Given the description of an element on the screen output the (x, y) to click on. 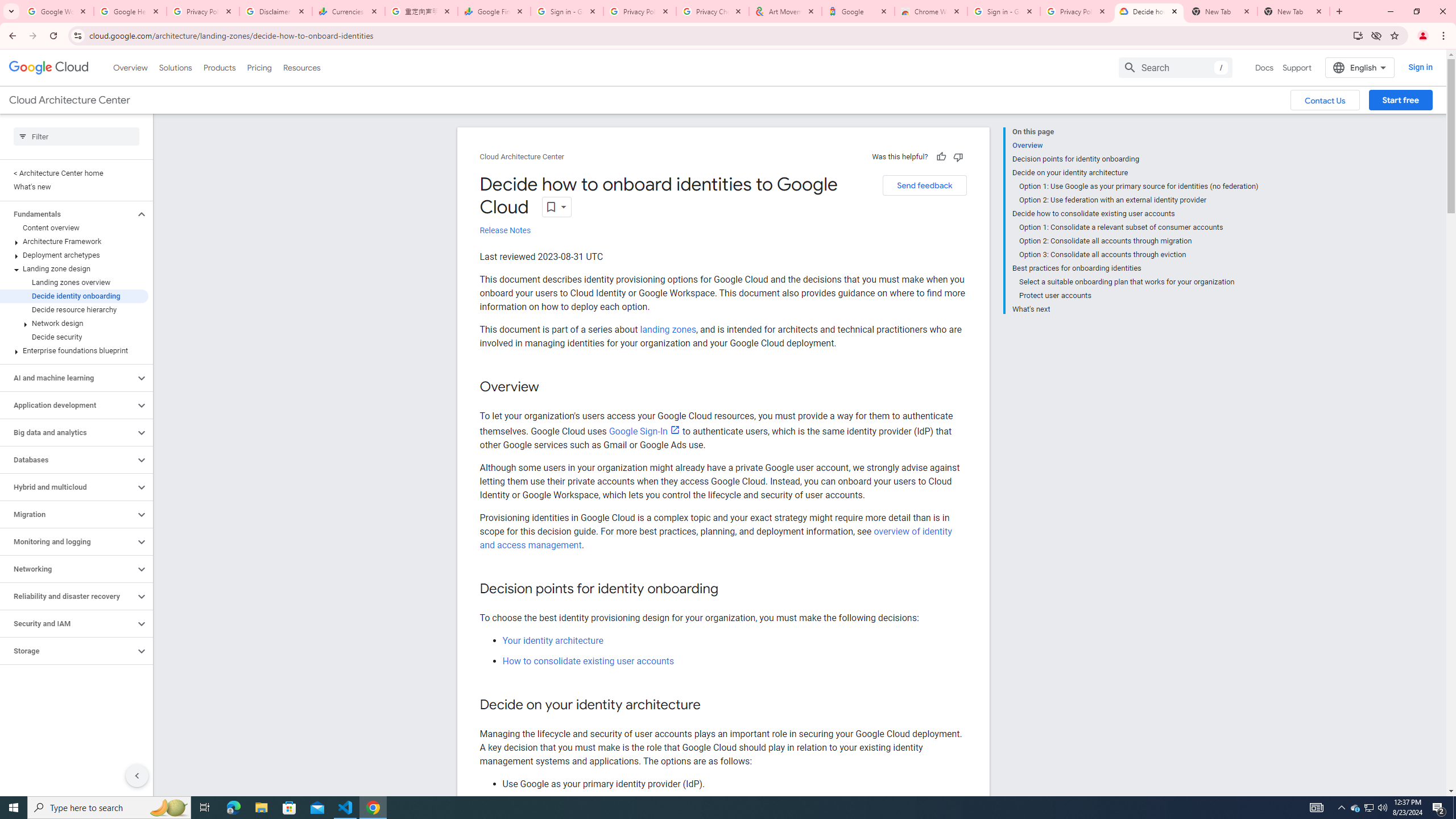
What's new (74, 187)
Databases (67, 459)
Application development (67, 404)
Option 1: Consolidate a relevant subset of consumer accounts (1138, 227)
New Tab (1293, 11)
Contact Us (1324, 100)
Protect user accounts (1138, 295)
Install Google Cloud (1358, 35)
Hide side navigation (136, 775)
overview of identity and access management (715, 537)
